Given the description of an element on the screen output the (x, y) to click on. 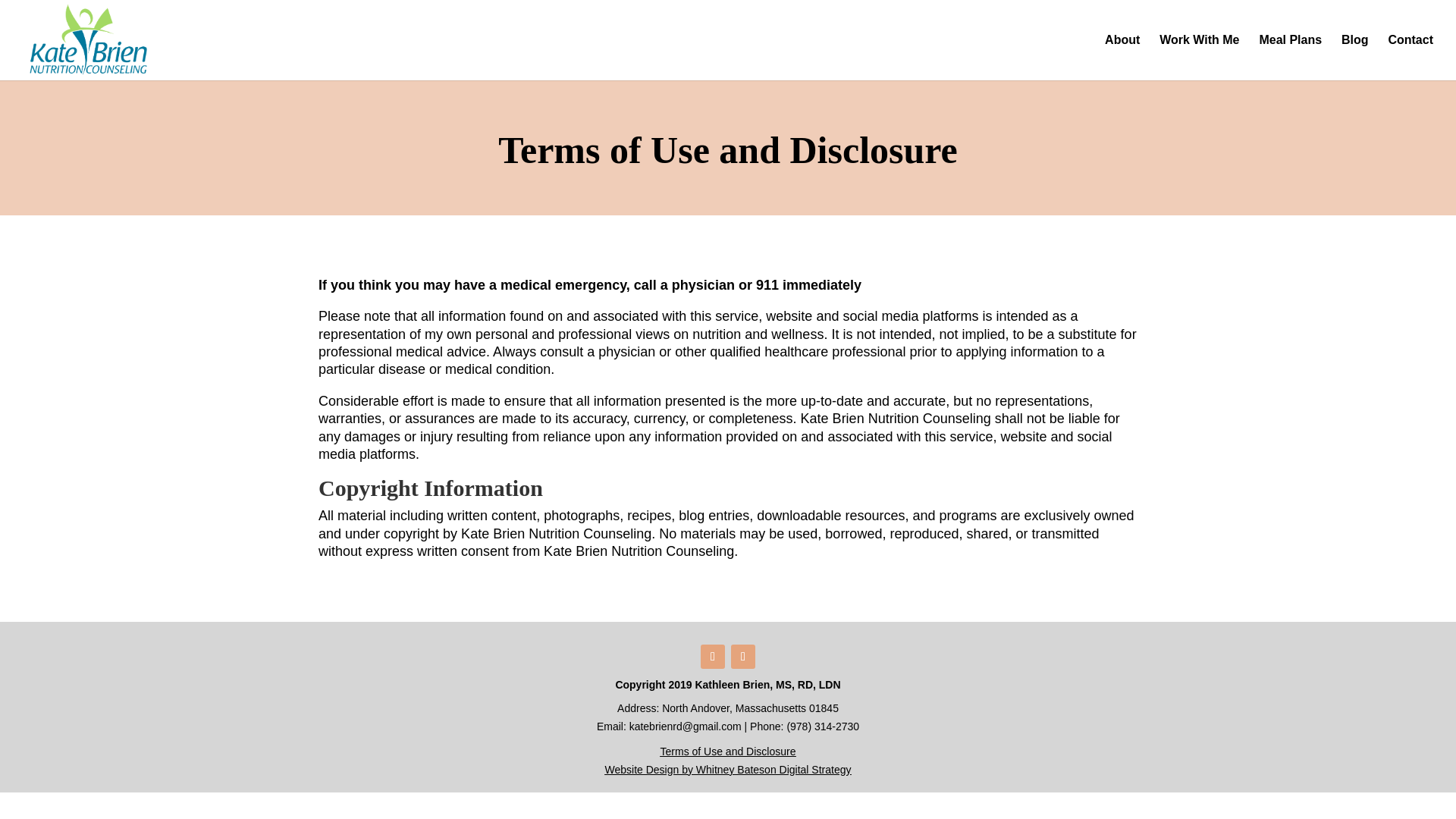
Work With Me (1198, 57)
Meal Plans (1290, 57)
Terms of Use and Disclosure (728, 751)
Contact (1409, 57)
Website Design by Whitney Bateson Digital Strategy (727, 769)
Follow on Facebook (712, 656)
Follow on Instagram (742, 656)
